Given the description of an element on the screen output the (x, y) to click on. 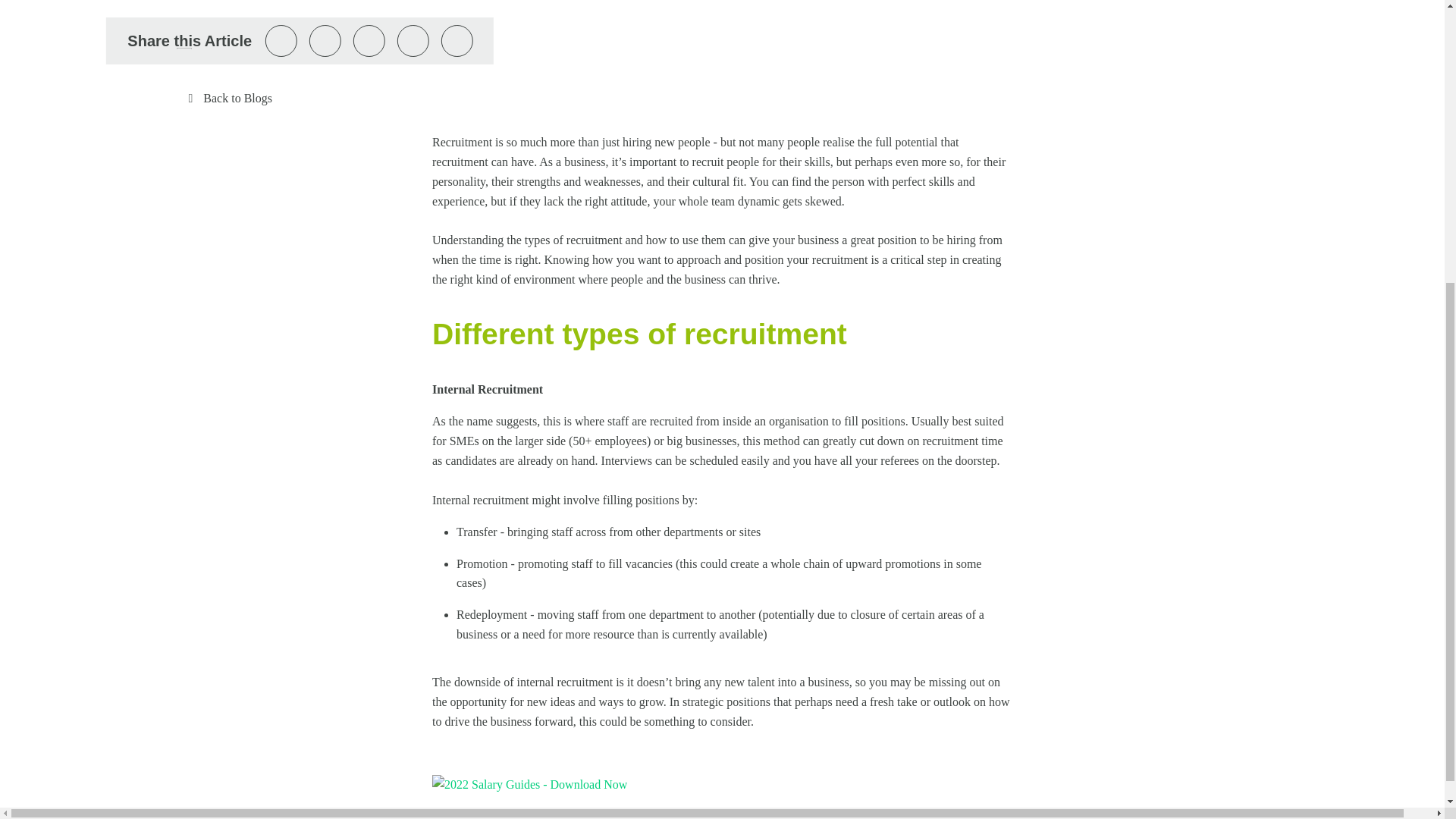
Email this (413, 40)
send in Whatsapp (457, 40)
share on LinkedIn (369, 40)
share on Facebook (324, 40)
Tweet this (280, 40)
